Given the description of an element on the screen output the (x, y) to click on. 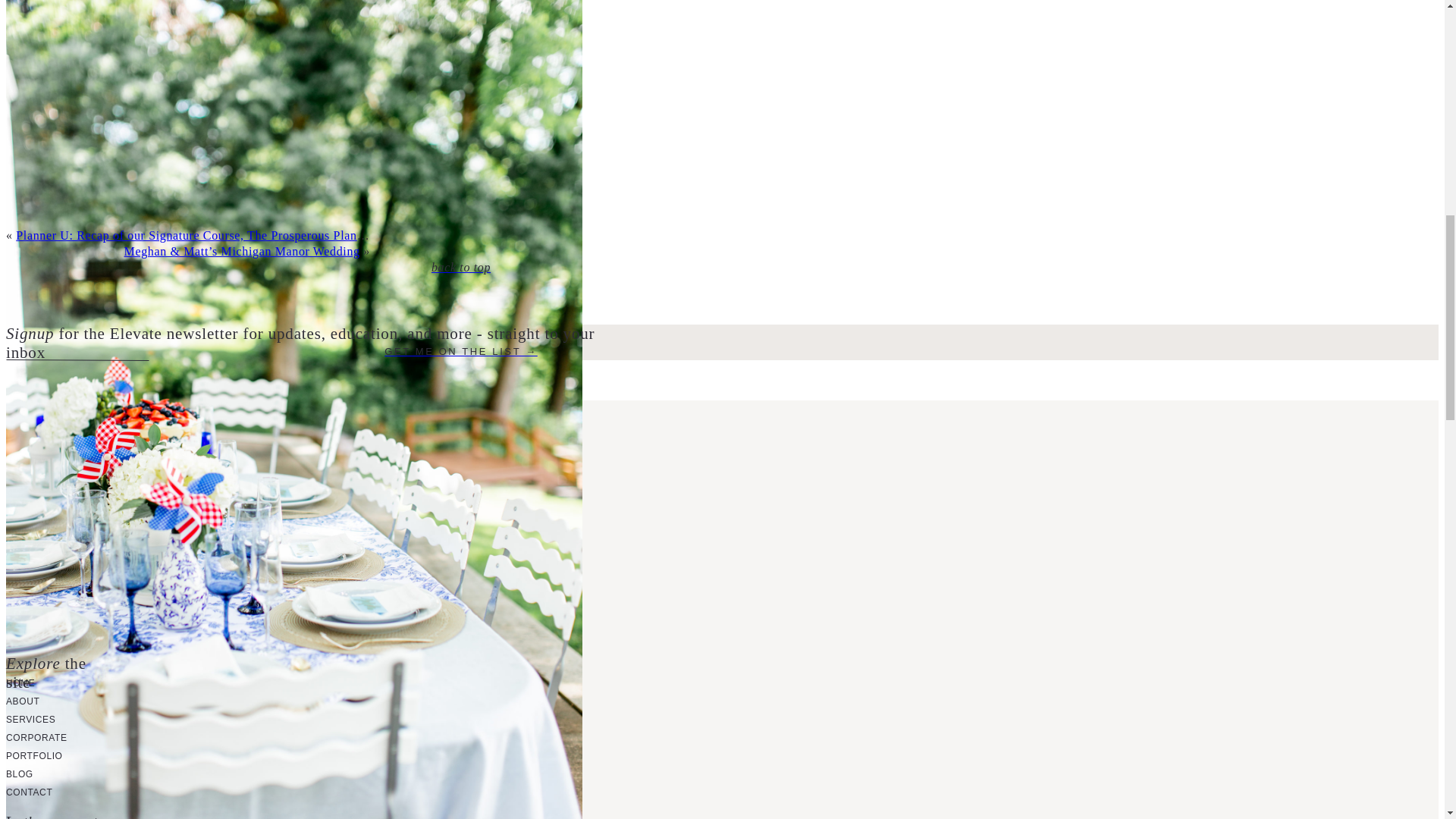
Weddings (66, 102)
ABOUT (22, 701)
Wisdom (66, 212)
CORPORATE (35, 737)
SERVICES (30, 719)
BLOG (19, 774)
back to top (460, 268)
HOME (19, 683)
PORTFOLIO (33, 756)
Celebrations (65, 130)
CONTACT (28, 792)
Elevate (66, 184)
